Given the description of an element on the screen output the (x, y) to click on. 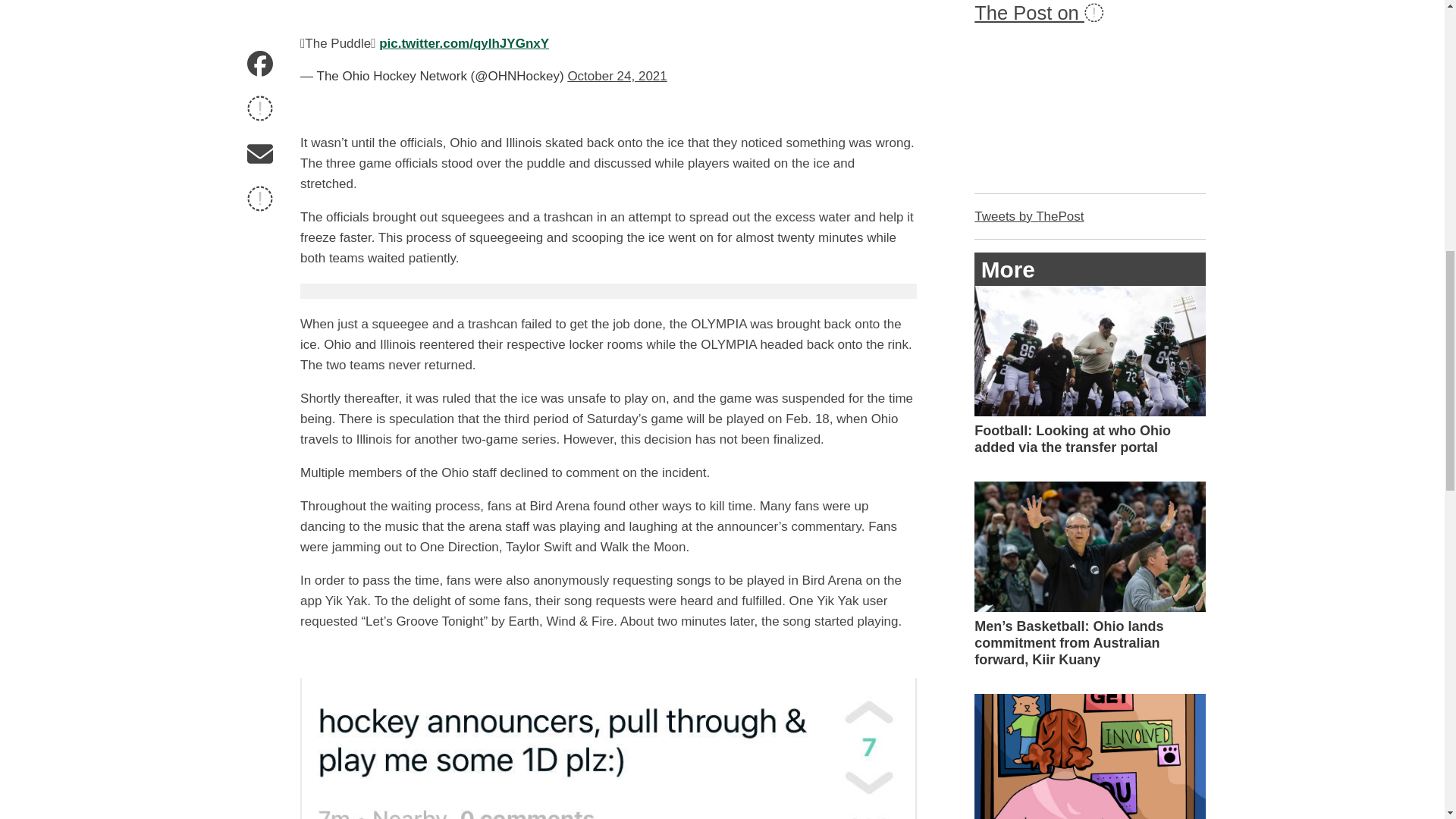
YouTube (1093, 12)
